Given the description of an element on the screen output the (x, y) to click on. 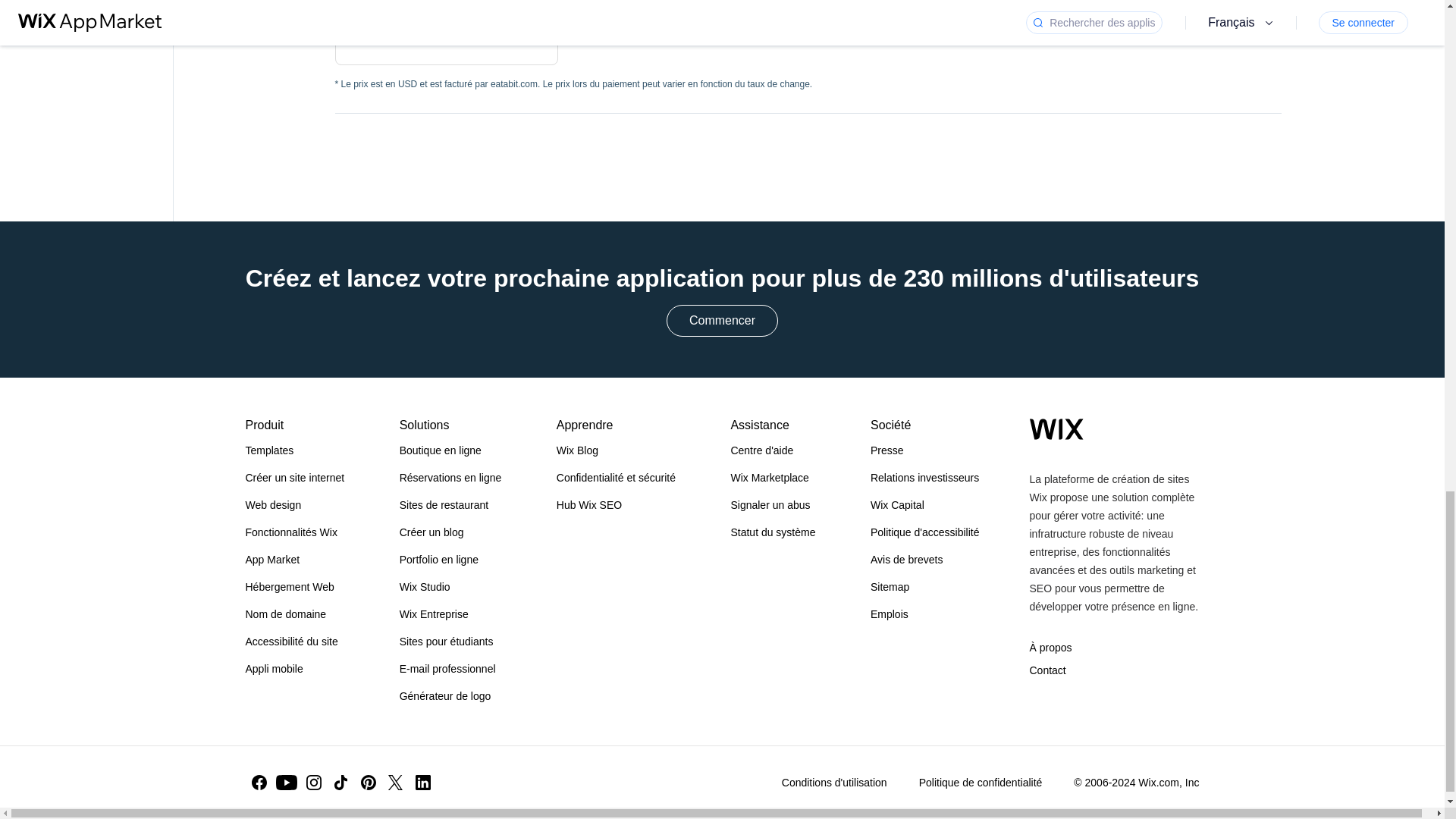
Facebook (259, 782)
Instagram (313, 782)
Pinterest (368, 782)
Twitter (395, 782)
TikTok (341, 782)
Linkedin (422, 782)
Wix.com (1056, 428)
Youtube (286, 782)
